Given the description of an element on the screen output the (x, y) to click on. 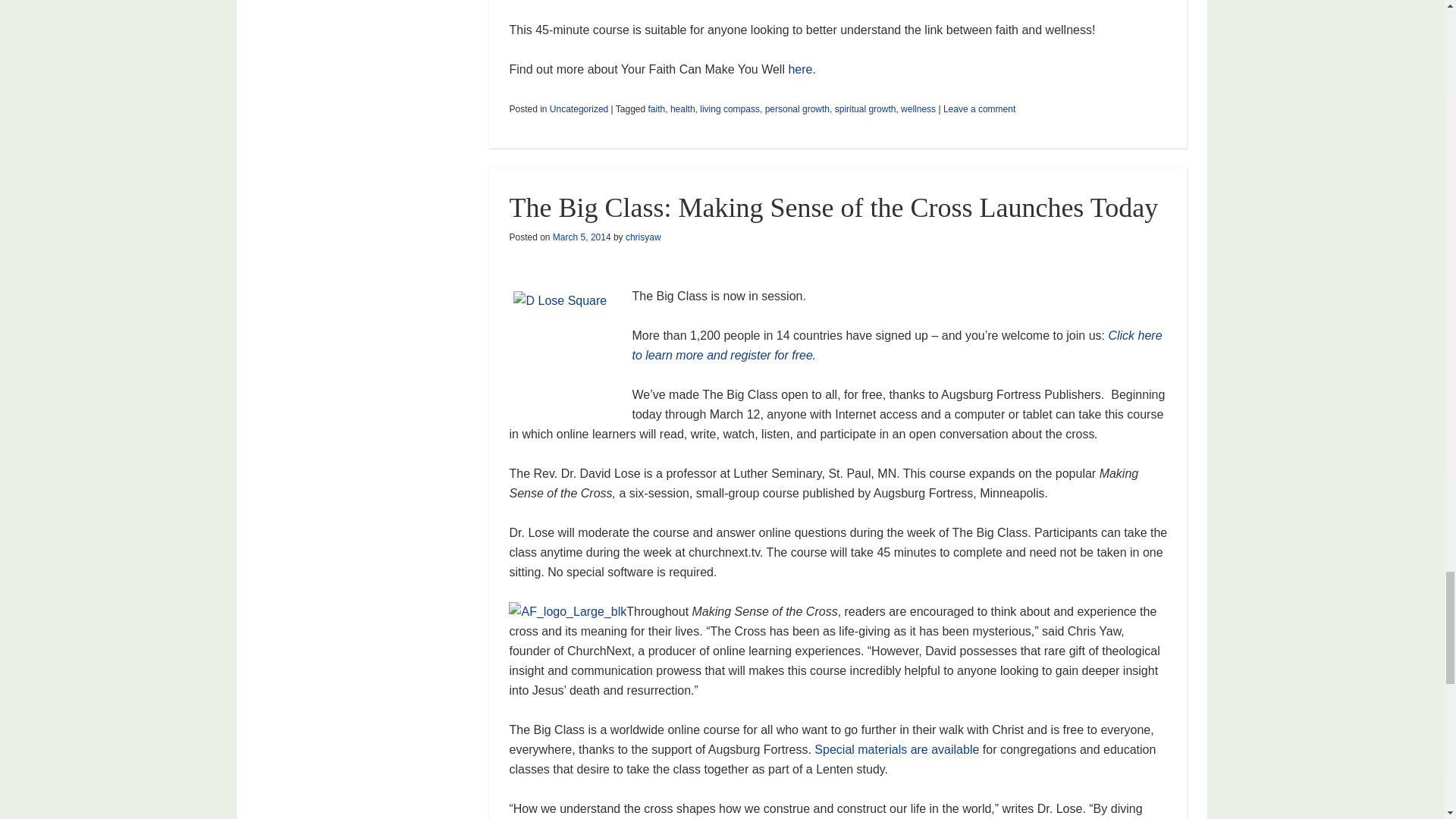
View all posts by chrisyaw (643, 236)
6:06 am (582, 236)
